Given the description of an element on the screen output the (x, y) to click on. 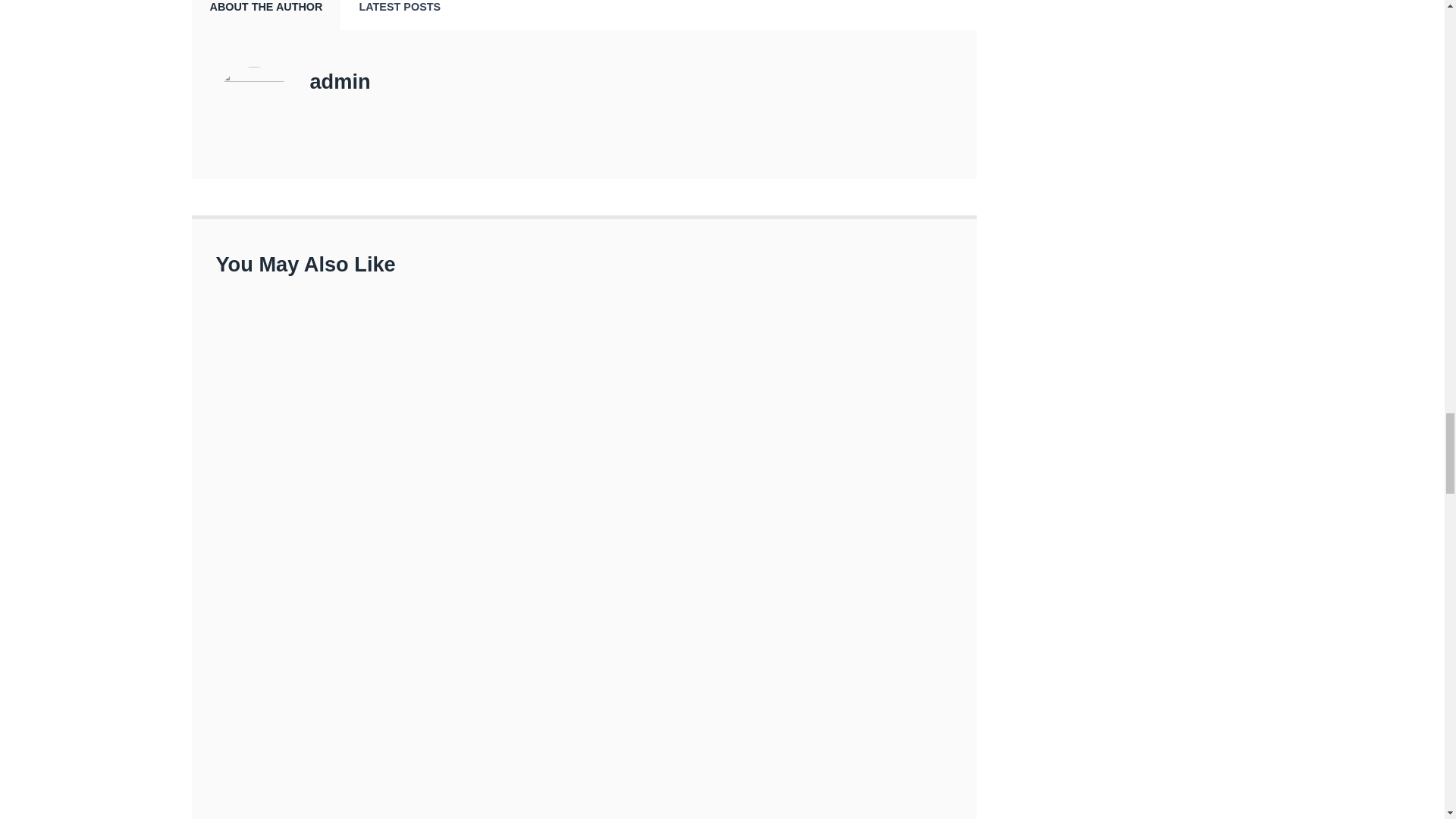
ABOUT THE AUTHOR (265, 15)
LATEST POSTS (399, 15)
admin (338, 81)
